Given the description of an element on the screen output the (x, y) to click on. 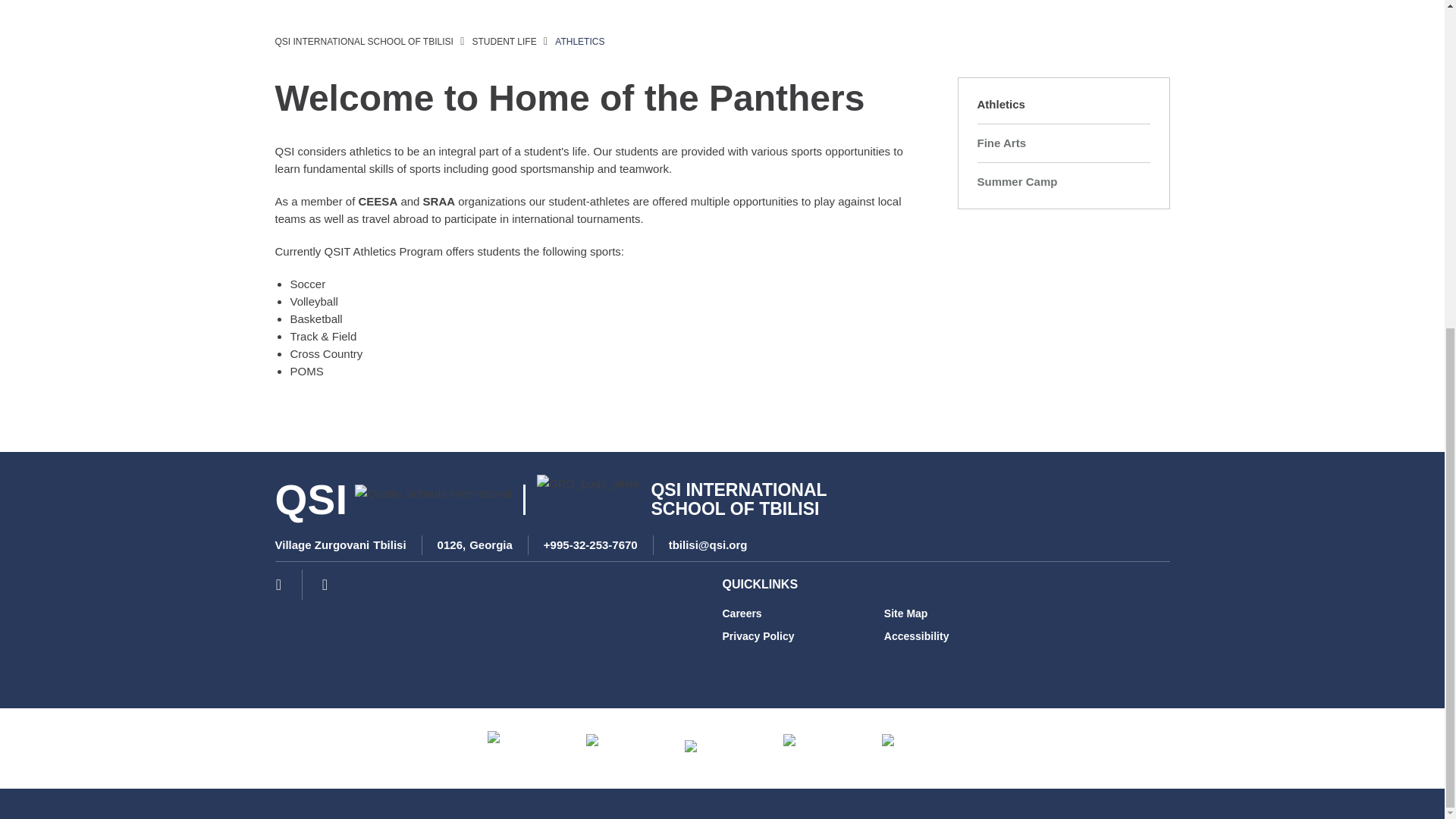
Email (708, 544)
Quality Schools International (433, 499)
Powered by Finalsite opens in a new window (1382, 796)
